Given the description of an element on the screen output the (x, y) to click on. 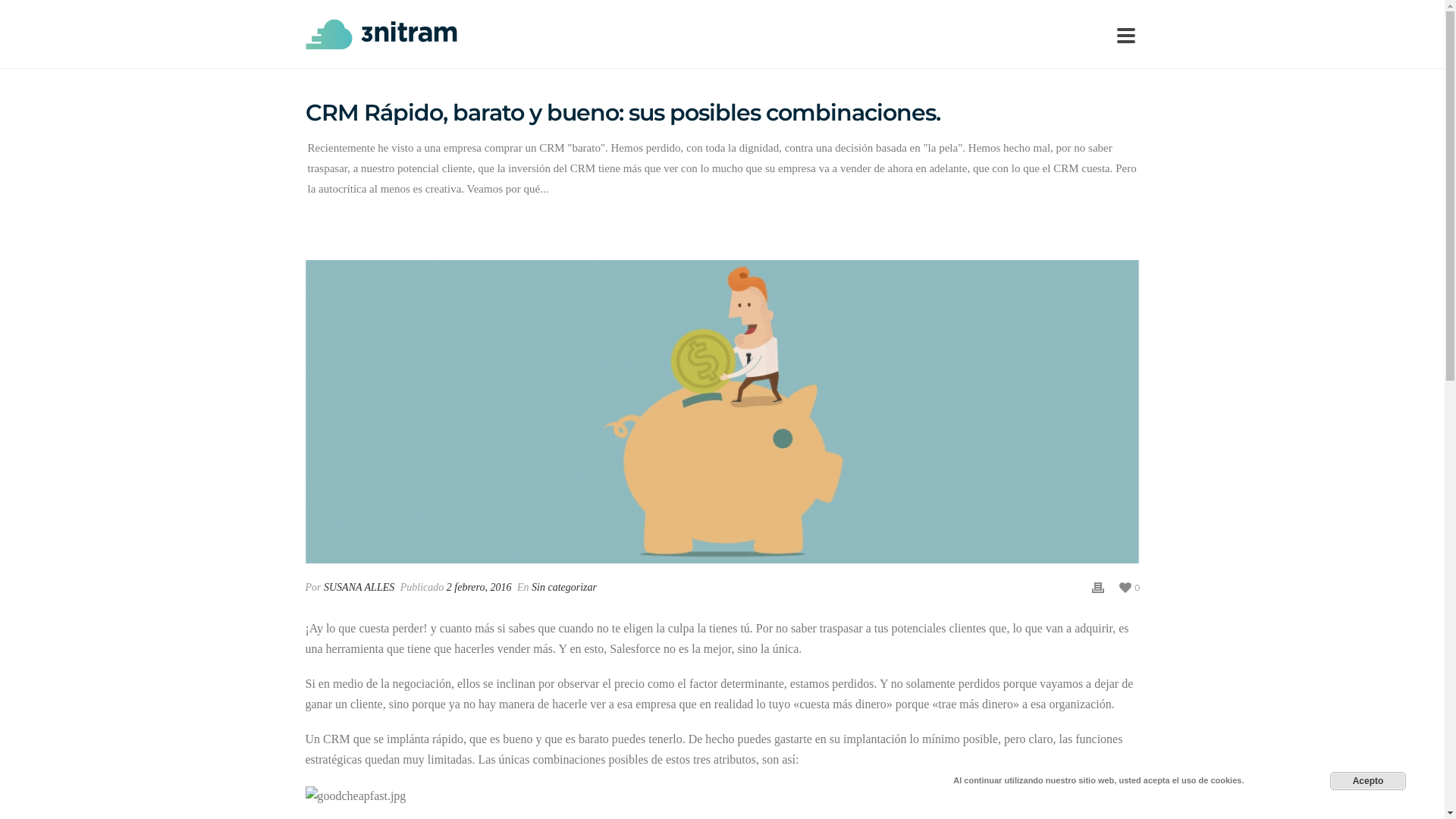
Te ayudamos a vender mejor con Salesforce Element type: hover (380, 33)
Acepto Element type: text (1367, 780)
Sin categorizar Element type: text (563, 587)
  Element type: text (721, 411)
Print Element type: hover (1098, 587)
0 Element type: text (1129, 586)
SUSANA ALLES Element type: text (358, 587)
2 febrero, 2016 Element type: text (478, 587)
